Given the description of an element on the screen output the (x, y) to click on. 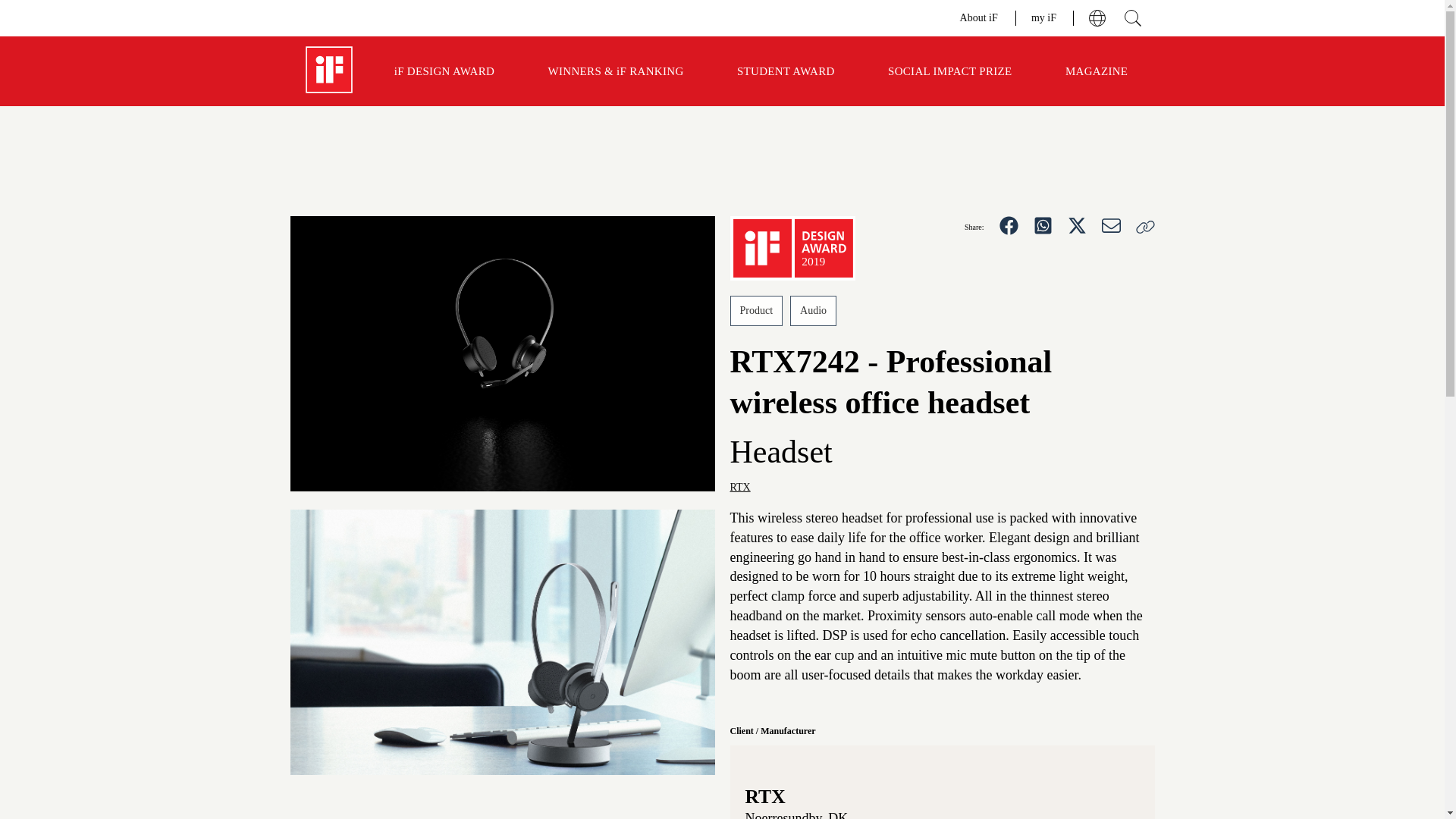
About iF (979, 16)
2019 (791, 248)
my iF (1044, 16)
